Given the description of an element on the screen output the (x, y) to click on. 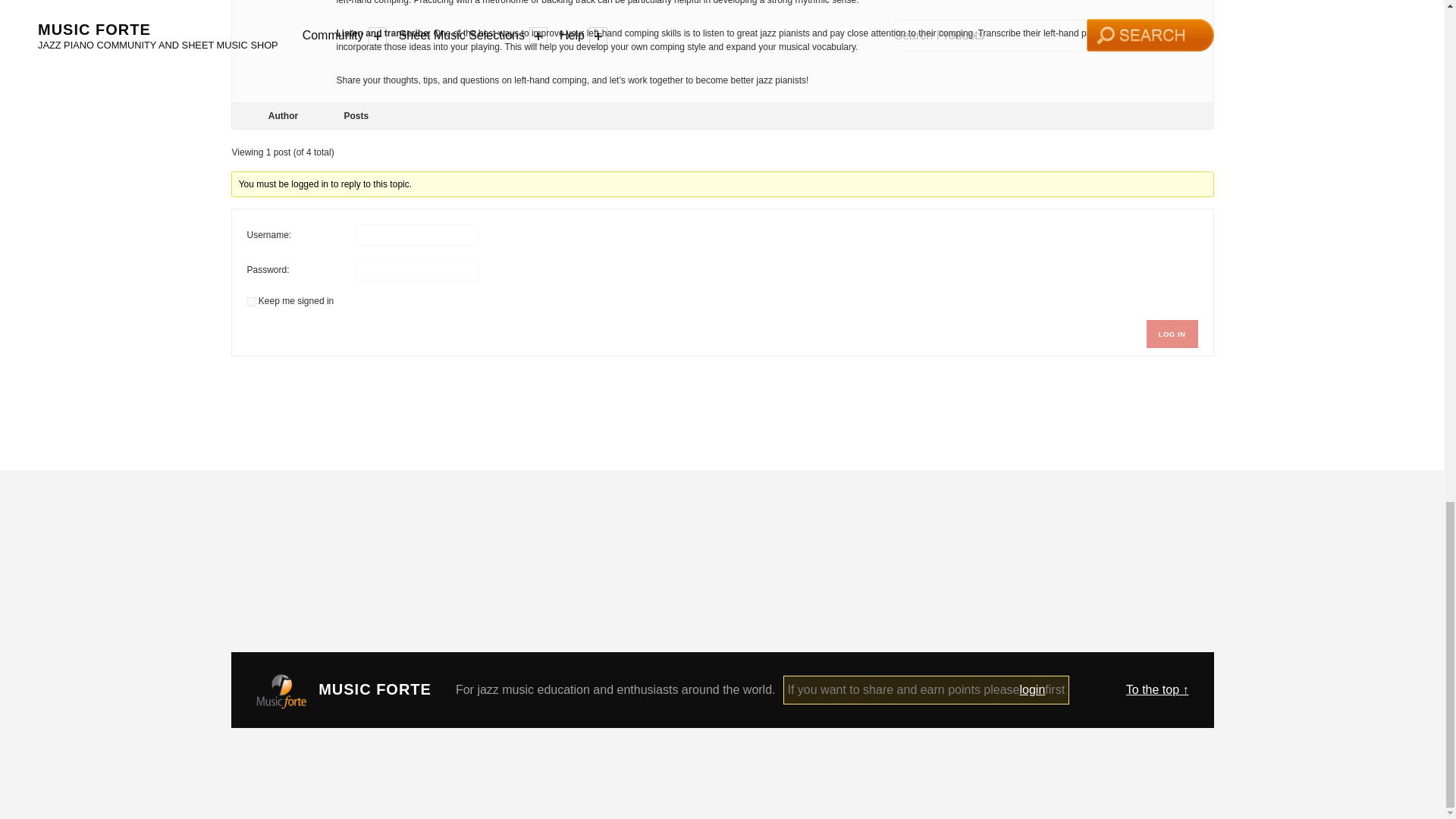
forever (251, 301)
